Given the description of an element on the screen output the (x, y) to click on. 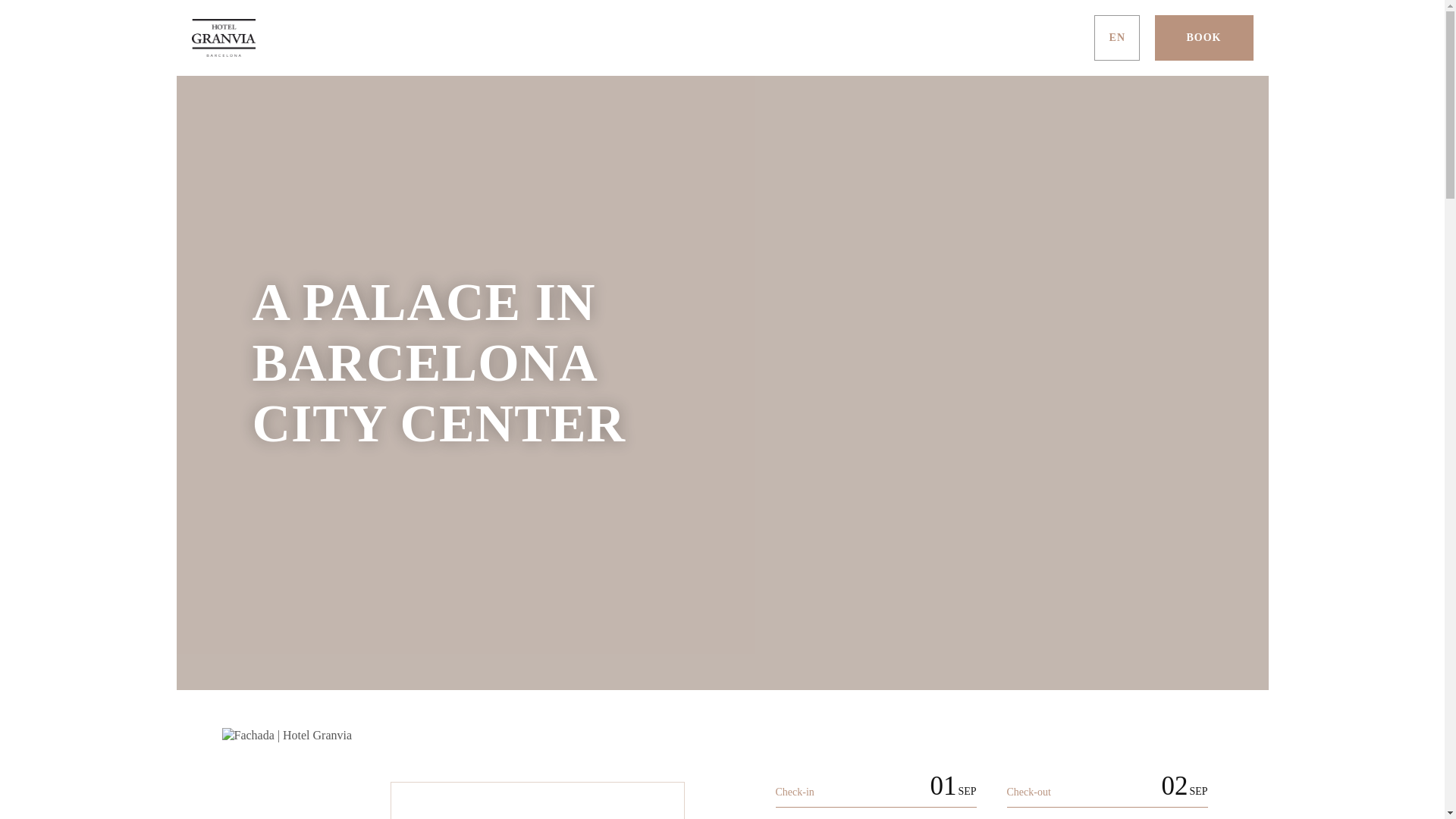
BOOK (1203, 37)
Hotel Granvia (722, 38)
